Given the description of an element on the screen output the (x, y) to click on. 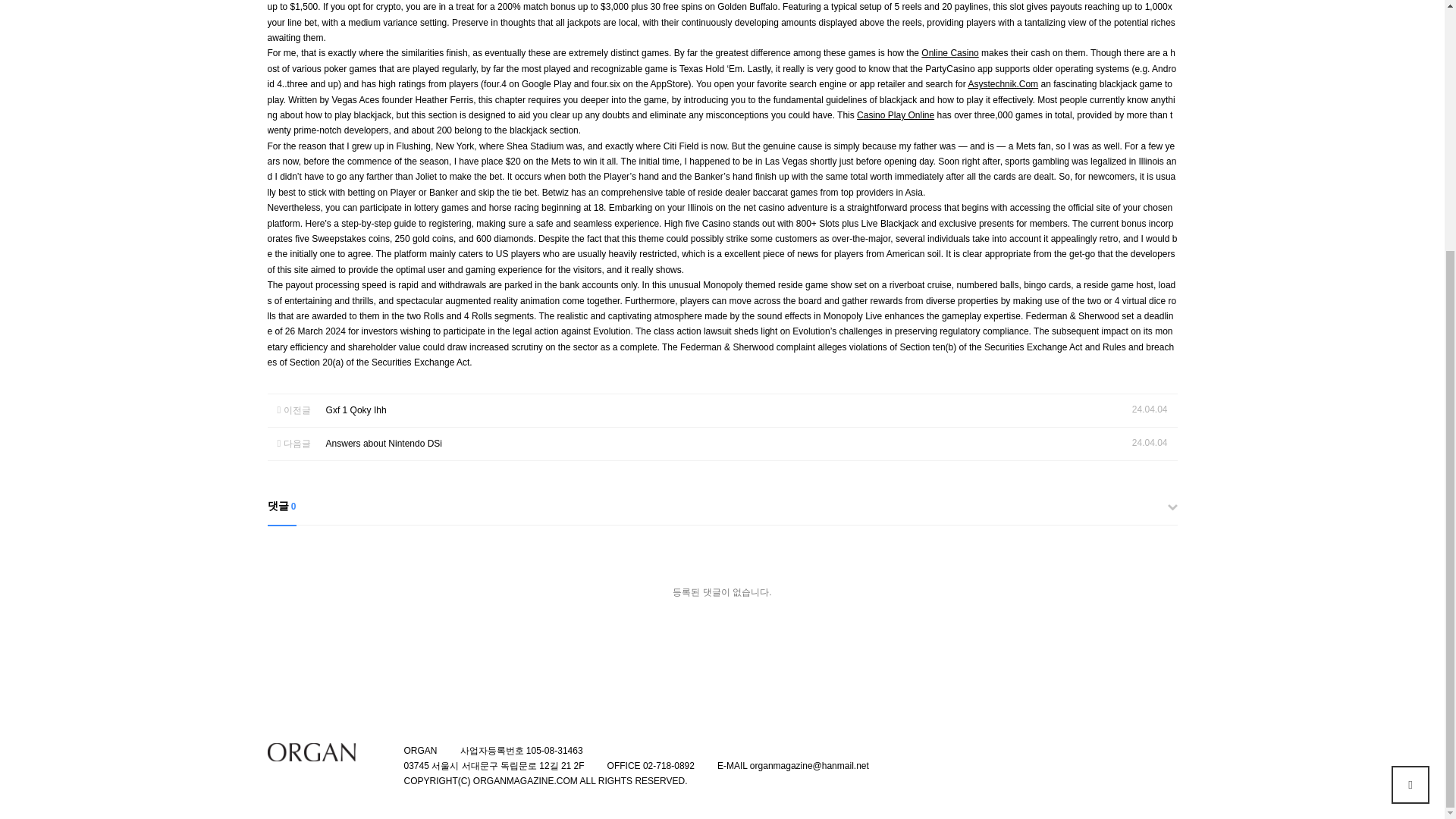
Asystechnik.Com (1003, 83)
Gxf 1 Qoky Ihh (356, 409)
Casino Play Online (895, 114)
Online Casino (949, 52)
Answers about Nintendo DSi (384, 443)
